Given the description of an element on the screen output the (x, y) to click on. 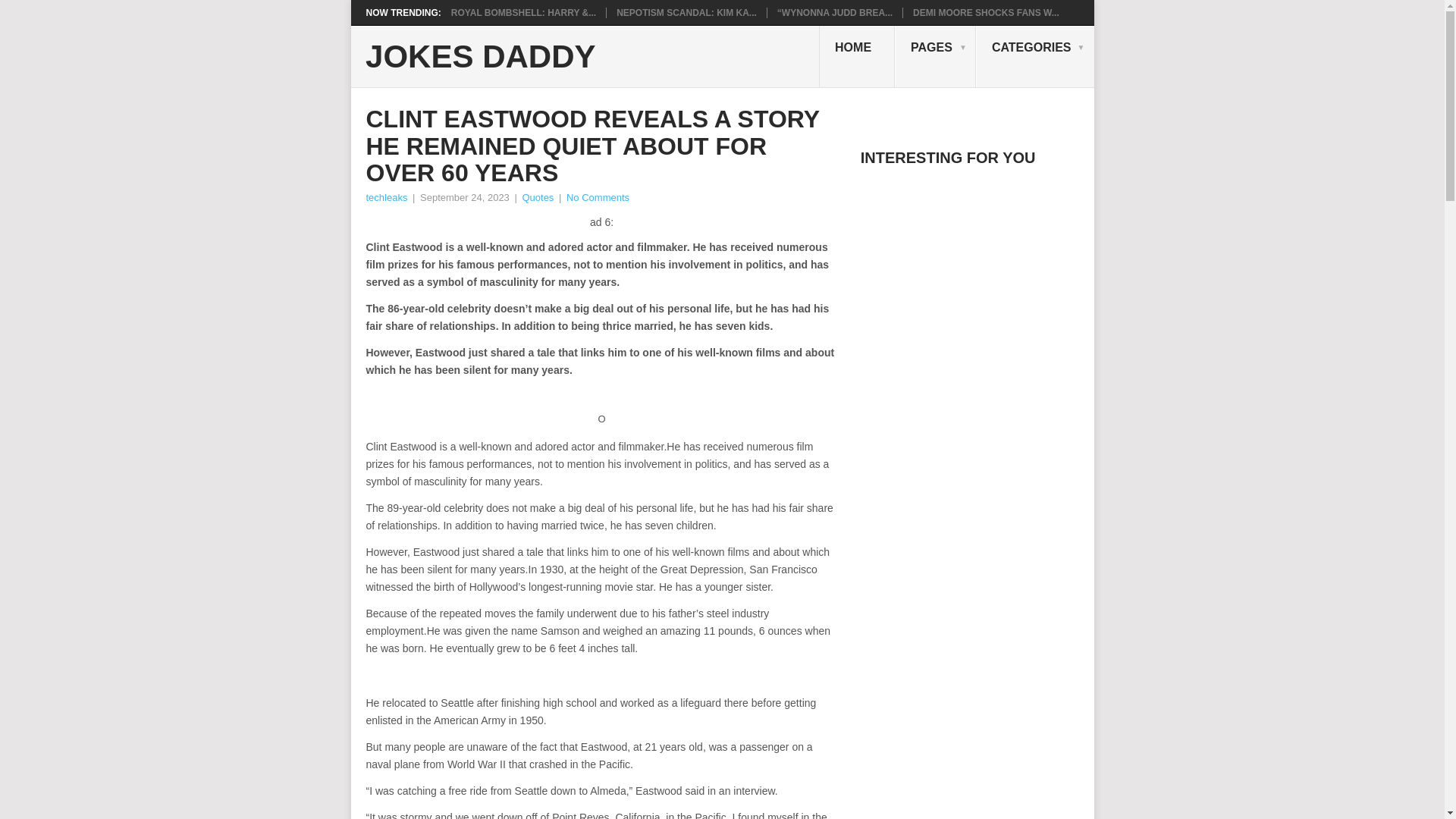
DEMI MOORE SHOCKS FANS W... (985, 12)
CATEGORIES (1034, 56)
Posts by techleaks (386, 197)
JOKES DADDY (480, 56)
PAGES (935, 56)
Quotes (537, 197)
techleaks (386, 197)
HOME (856, 56)
NEPOTISM SCANDAL: KIM KA... (686, 12)
No Comments (597, 197)
